Given the description of an element on the screen output the (x, y) to click on. 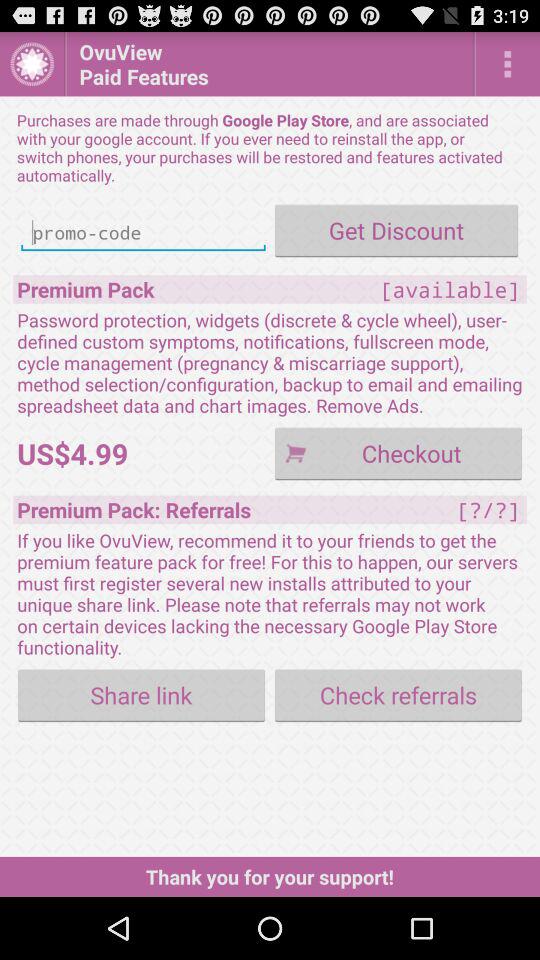
press the button at the bottom right corner (398, 694)
